Given the description of an element on the screen output the (x, y) to click on. 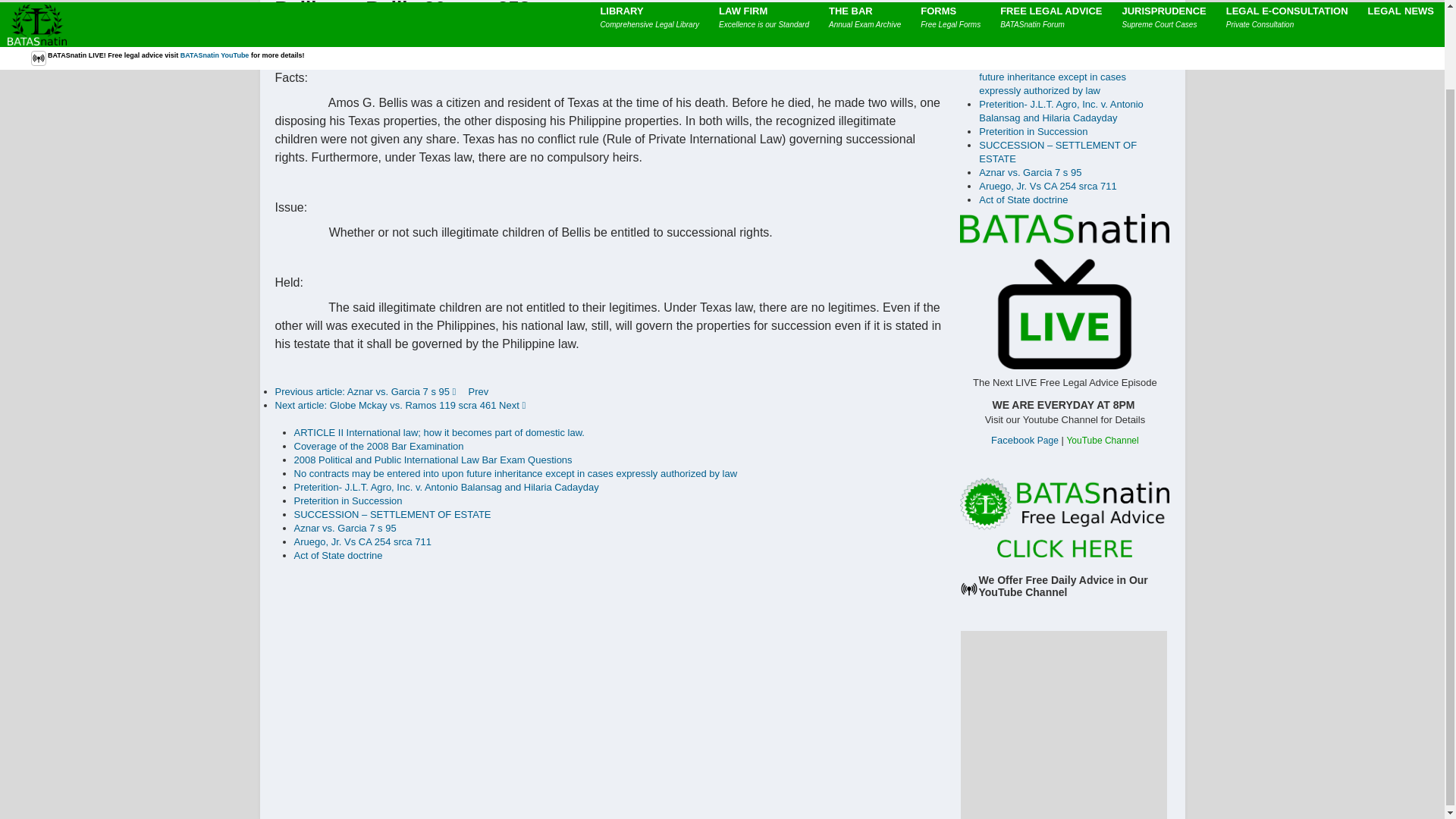
BATASnatin Free Legal Advice (1064, 516)
BATASnatin Facebook (1024, 439)
BATASnatin LIVE Pilot Broadcast Countdown (1064, 291)
